Given the description of an element on the screen output the (x, y) to click on. 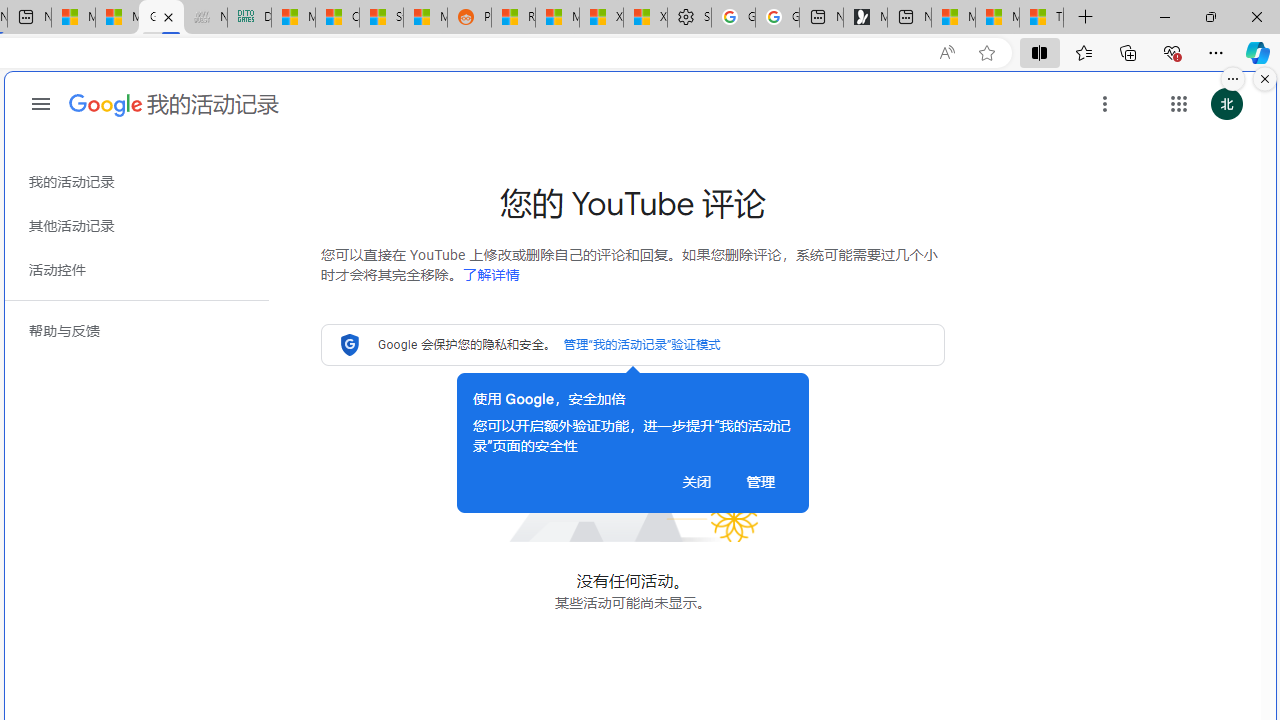
New Tab (1085, 17)
Copilot (Ctrl+Shift+.) (1258, 52)
Settings and more (Alt+F) (1215, 52)
Split screen (1039, 52)
New tab (909, 17)
Microsoft Start (996, 17)
More options. (1233, 79)
MSNBC - MSN (292, 17)
